Given the description of an element on the screen output the (x, y) to click on. 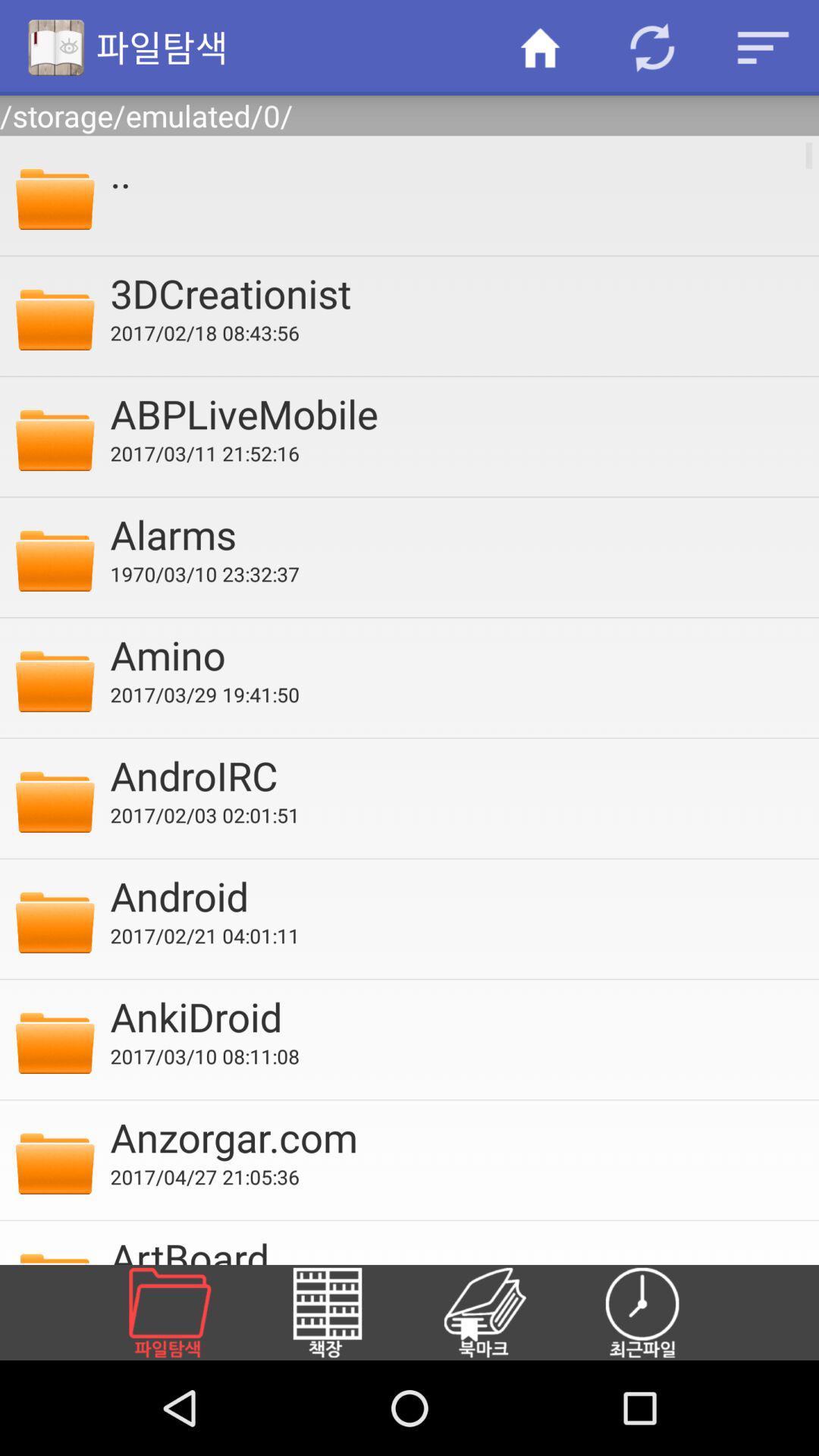
open androirc app (454, 775)
